Given the description of an element on the screen output the (x, y) to click on. 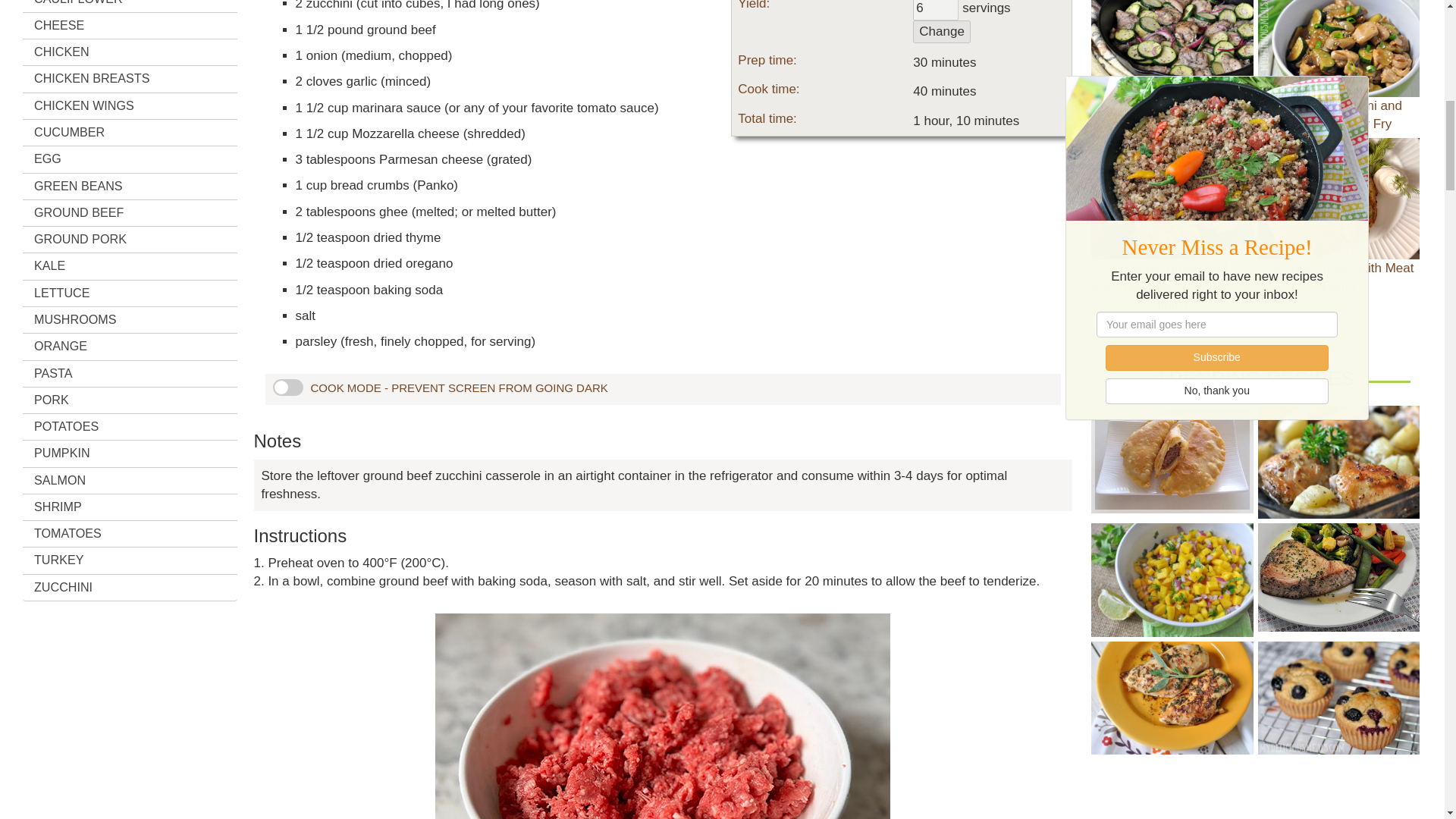
Zucchini Fritters with Meat Filling (1338, 198)
Chicken, Zucchini and Mushroom Stir Fry (1338, 48)
6 (935, 9)
Tuna Steaks with Lemon-Parsley Butter (1338, 576)
Easy Homemade Mango Salsa (1171, 579)
Healthy Blueberry Pecan Muffins (1338, 697)
Lemon Chicken and Potatoes in Oven (1338, 461)
Easy Chicken Breast Recipe with Sage and Thyme (1171, 697)
Easy Chicken and Zucchini Bake (1171, 48)
